Given the description of an element on the screen output the (x, y) to click on. 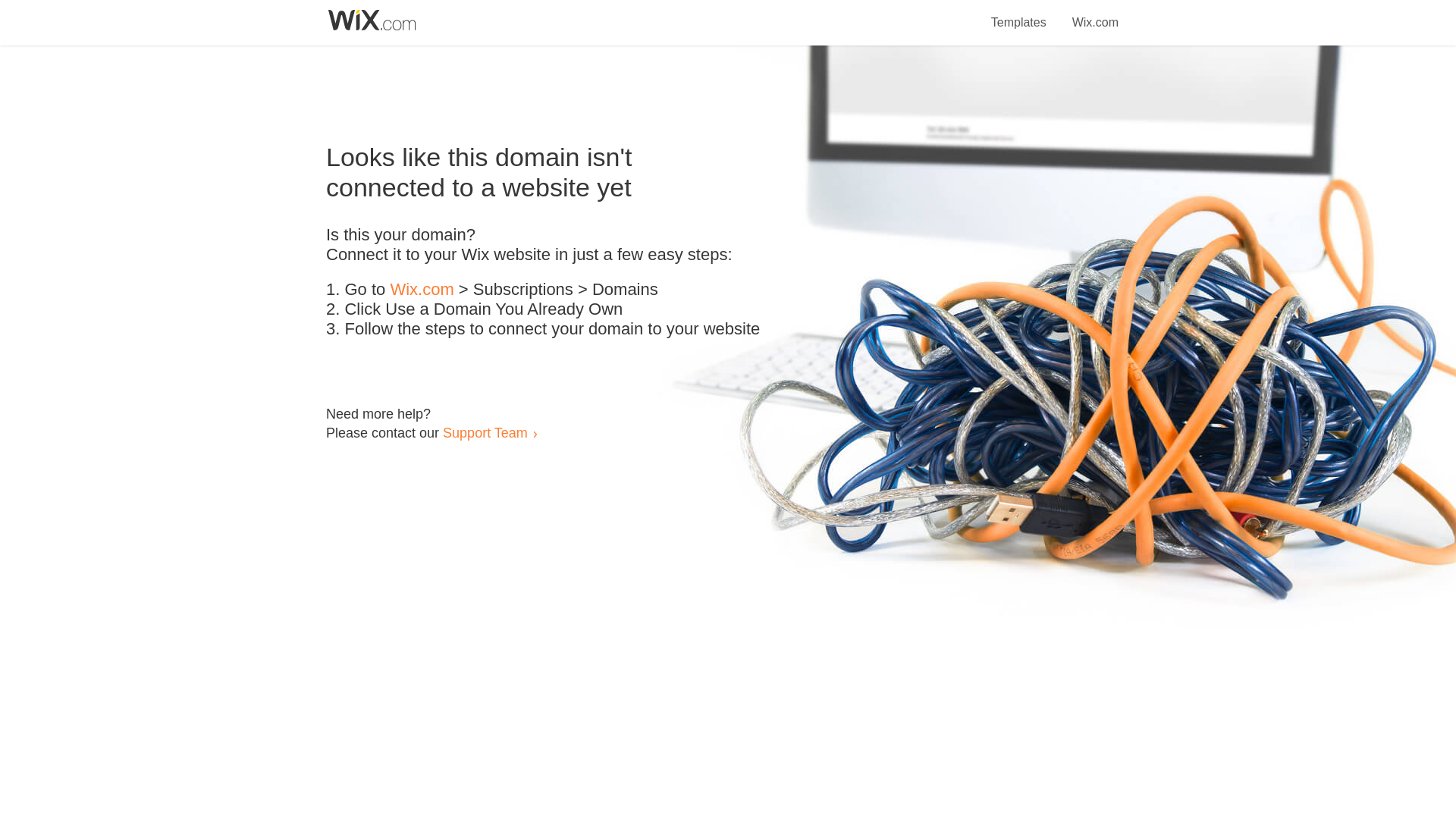
Wix.com (421, 289)
Templates (1018, 14)
Support Team (484, 432)
Wix.com (1095, 14)
